Given the description of an element on the screen output the (x, y) to click on. 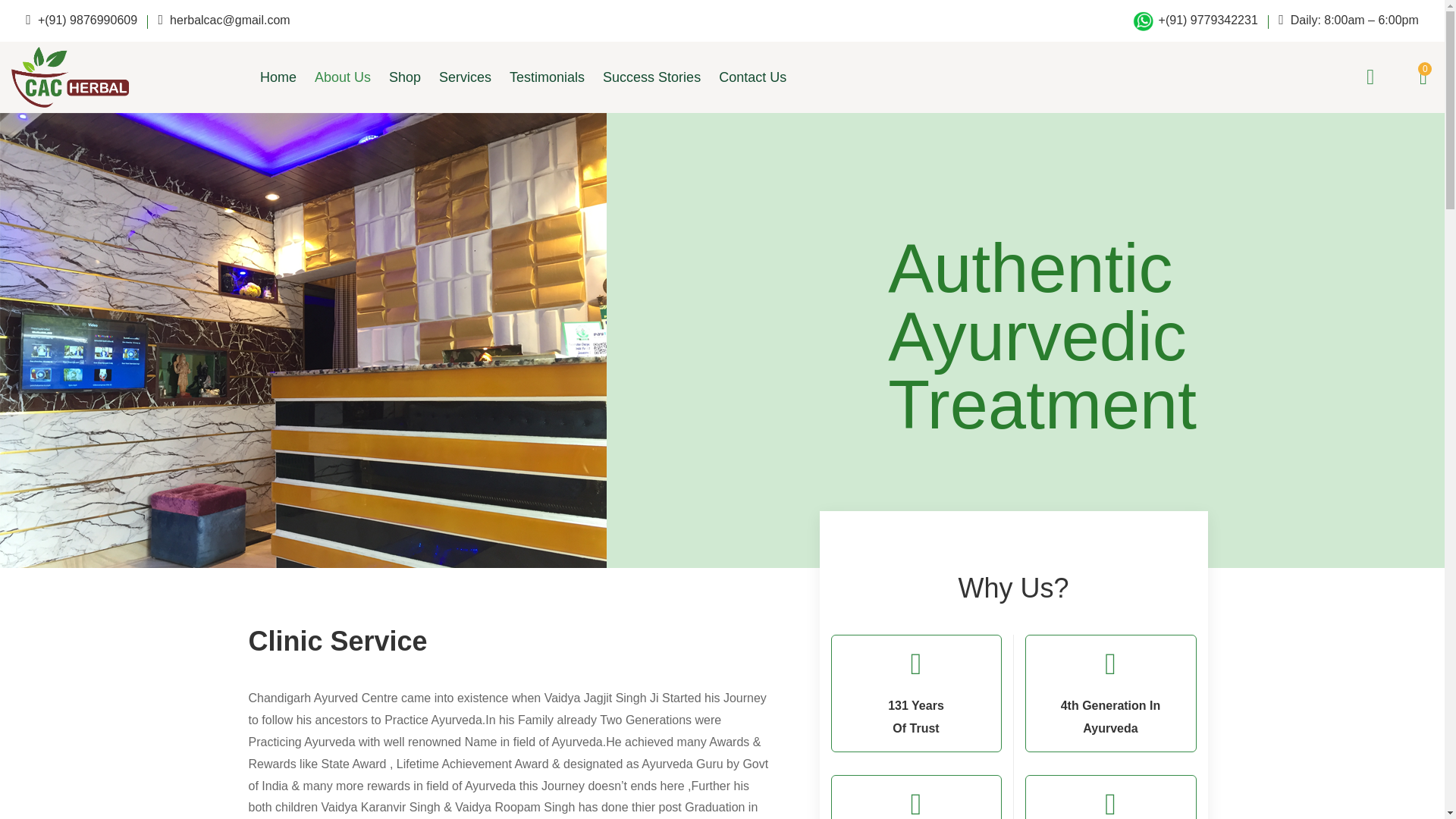
Contact Us (752, 76)
Services (464, 76)
Success Stories (652, 76)
Home (282, 76)
About Us (342, 76)
Testimonials (547, 76)
CAC Herbal (70, 75)
Shop (404, 76)
